Given the description of an element on the screen output the (x, y) to click on. 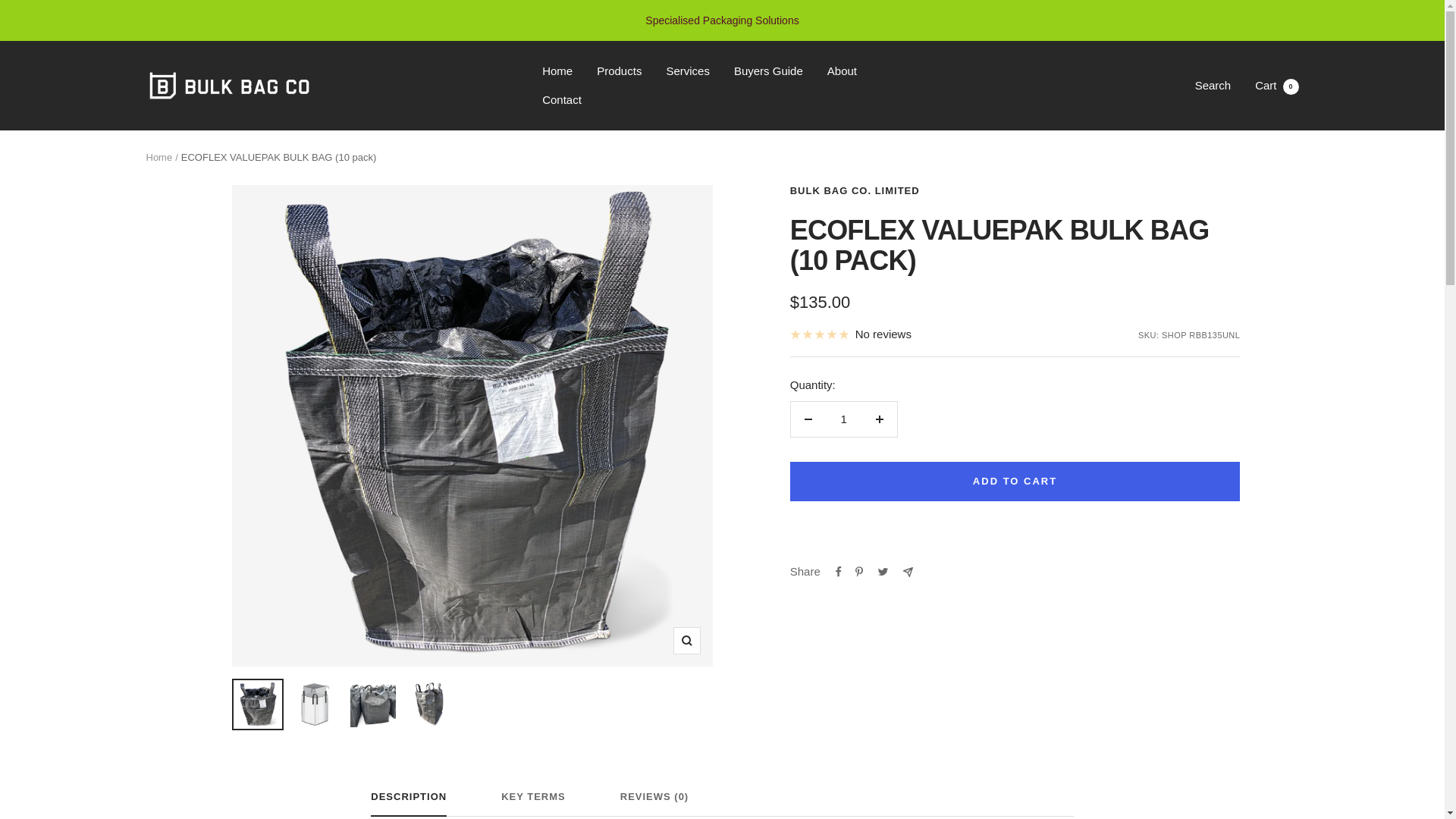
Search (1213, 84)
BULK BAG CO. LIMITED (1276, 84)
No reviews (855, 190)
1 (850, 333)
Products (843, 419)
Home (619, 71)
Home (556, 71)
ADD TO CART (158, 156)
Zoom (1015, 481)
